Given the description of an element on the screen output the (x, y) to click on. 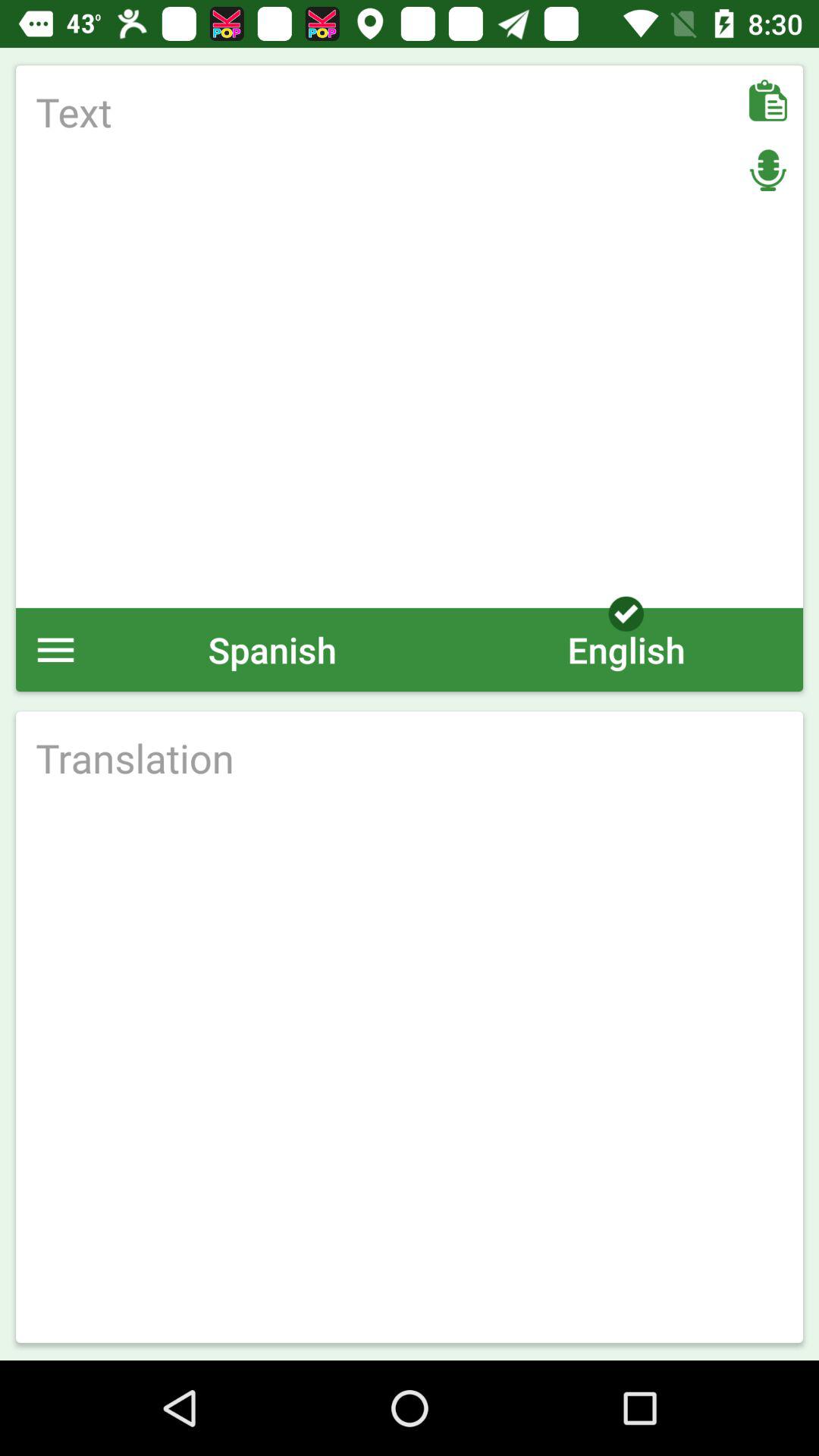
open the icon next to the english (272, 649)
